Given the description of an element on the screen output the (x, y) to click on. 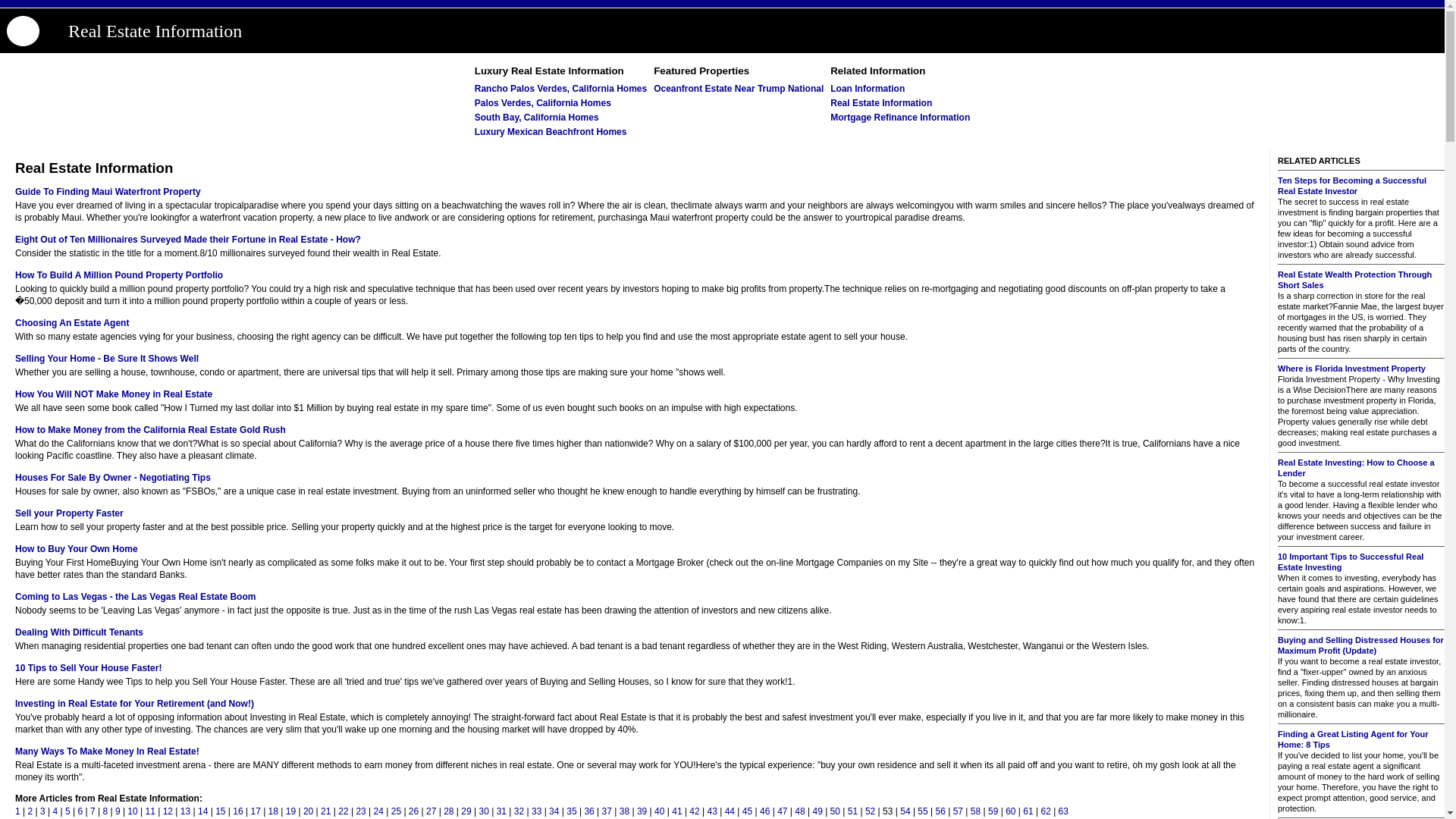
How to Buy Your Own Home (76, 548)
Many Ways To Make Money In Real Estate! (106, 751)
How You Will NOT Make Money in Real Estate (113, 394)
Choosing An Estate Agent (71, 322)
How To Build A Million Pound Property Portfolio (118, 275)
Guide To Finding Maui Waterfront Property (107, 191)
Luxury Mexican Beachfront Homes (550, 131)
How to Make Money from the California Real Estate Gold Rush (149, 429)
Real Estate Information (880, 102)
10 Tips to Sell Your House Faster! (87, 667)
South Bay, California Homes (536, 117)
Sell your Property Faster (68, 512)
Oceanfront Estate Near Trump National (738, 88)
Houses For Sale By Owner - Negotiating Tips (112, 477)
